Given the description of an element on the screen output the (x, y) to click on. 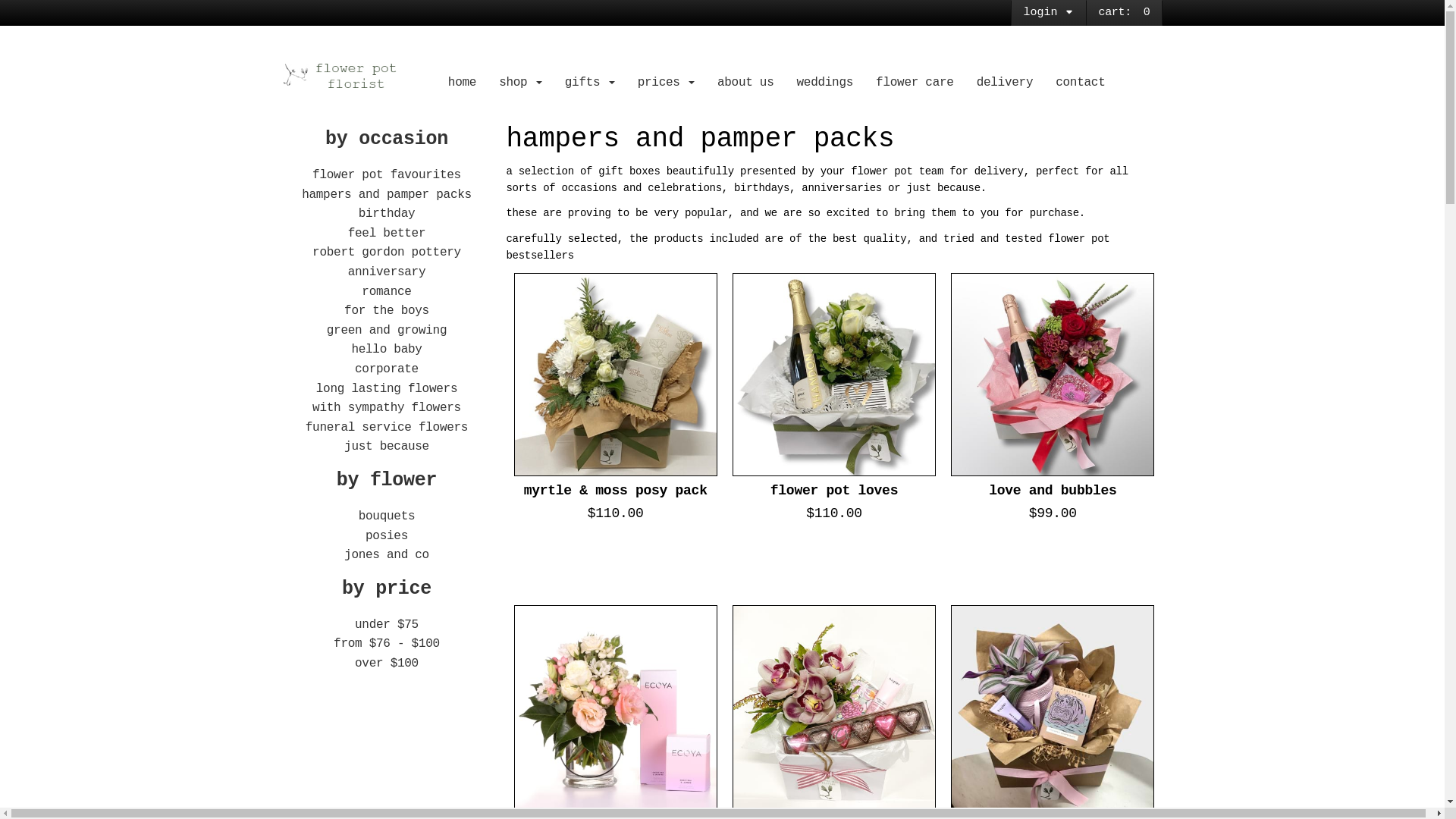
by flower Element type: text (386, 480)
over $100 Element type: text (386, 663)
love and bubbles
$99.00 Element type: text (1052, 431)
corporate Element type: text (386, 369)
myrtle & moss posy pack
$110.00 Element type: text (615, 431)
hello baby Element type: text (386, 349)
for the boys Element type: text (386, 310)
by occasion Element type: text (386, 139)
flower pot favourites Element type: text (386, 175)
from $76 - $100 Element type: text (386, 643)
delivery Element type: text (1004, 82)
flower pot loves
$110.00 Element type: text (833, 431)
birthday Element type: text (386, 213)
feel better Element type: text (387, 233)
login Element type: text (1048, 12)
bouquets Element type: text (386, 516)
about us Element type: text (745, 82)
green and growing Element type: text (386, 330)
jones and co Element type: text (386, 554)
romance Element type: text (386, 291)
just because Element type: text (386, 446)
cart: 0 Element type: text (1123, 12)
shop Element type: text (520, 82)
contact Element type: text (1080, 82)
gifts Element type: text (589, 82)
with sympathy flowers Element type: text (386, 407)
long lasting flowers Element type: text (386, 388)
robert gordon pottery Element type: text (386, 252)
weddings Element type: text (825, 82)
flower care Element type: text (914, 82)
by price Element type: text (386, 588)
anniversary Element type: text (387, 272)
home Element type: text (461, 82)
hampers and pamper packs Element type: text (386, 194)
prices Element type: text (666, 82)
posies Element type: text (386, 535)
Flower Pot Florist Element type: hover (355, 75)
funeral service flowers Element type: text (386, 427)
under $75 Element type: text (386, 624)
